Given the description of an element on the screen output the (x, y) to click on. 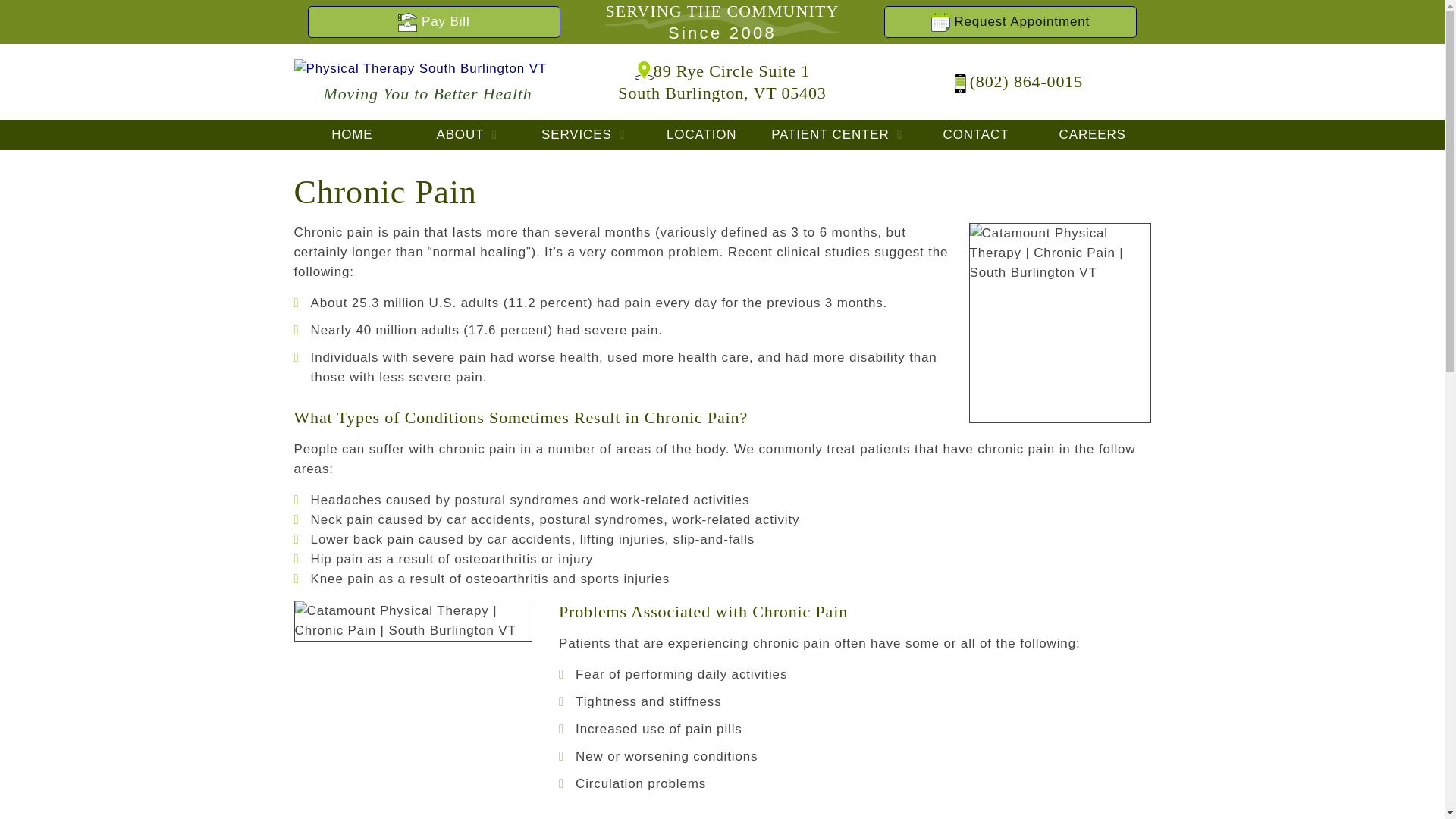
ABOUT (468, 134)
Request Appointment (721, 81)
Pay Your Bill (1010, 21)
HOME (433, 21)
Pay Bill (352, 134)
SERVICES (433, 21)
LOCATION (585, 134)
PATIENT CENTER (701, 134)
CONTACT (838, 134)
Appointment Request (975, 134)
CAREERS (1010, 21)
